Given the description of an element on the screen output the (x, y) to click on. 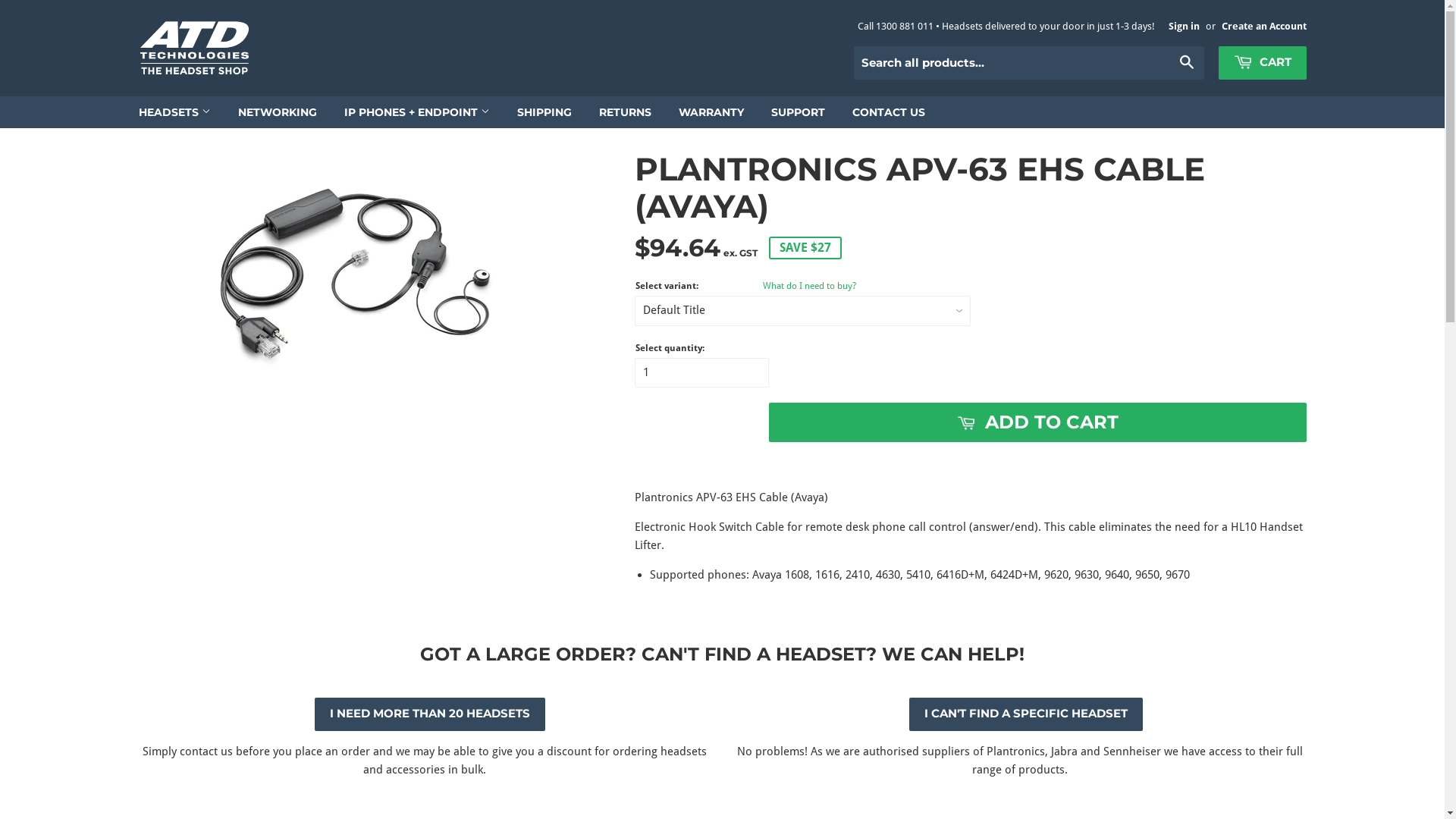
SUPPORT Element type: text (798, 112)
RETURNS Element type: text (624, 112)
Sign in Element type: text (1183, 25)
NETWORKING Element type: text (277, 112)
HEADSETS Element type: text (174, 112)
IP PHONES + ENDPOINT Element type: text (417, 112)
CONTACT US Element type: text (888, 112)
Search Element type: text (1187, 63)
I CAN'T FIND A SPECIFIC HEADSET Element type: text (1025, 714)
Create an Account Element type: text (1263, 25)
SHIPPING Element type: text (544, 112)
What do I need to buy? Element type: text (809, 285)
WARRANTY Element type: text (711, 112)
I NEED MORE THAN 20 HEADSETS Element type: text (429, 714)
CART Element type: text (1262, 62)
ADD TO CART Element type: text (1037, 422)
